Given the description of an element on the screen output the (x, y) to click on. 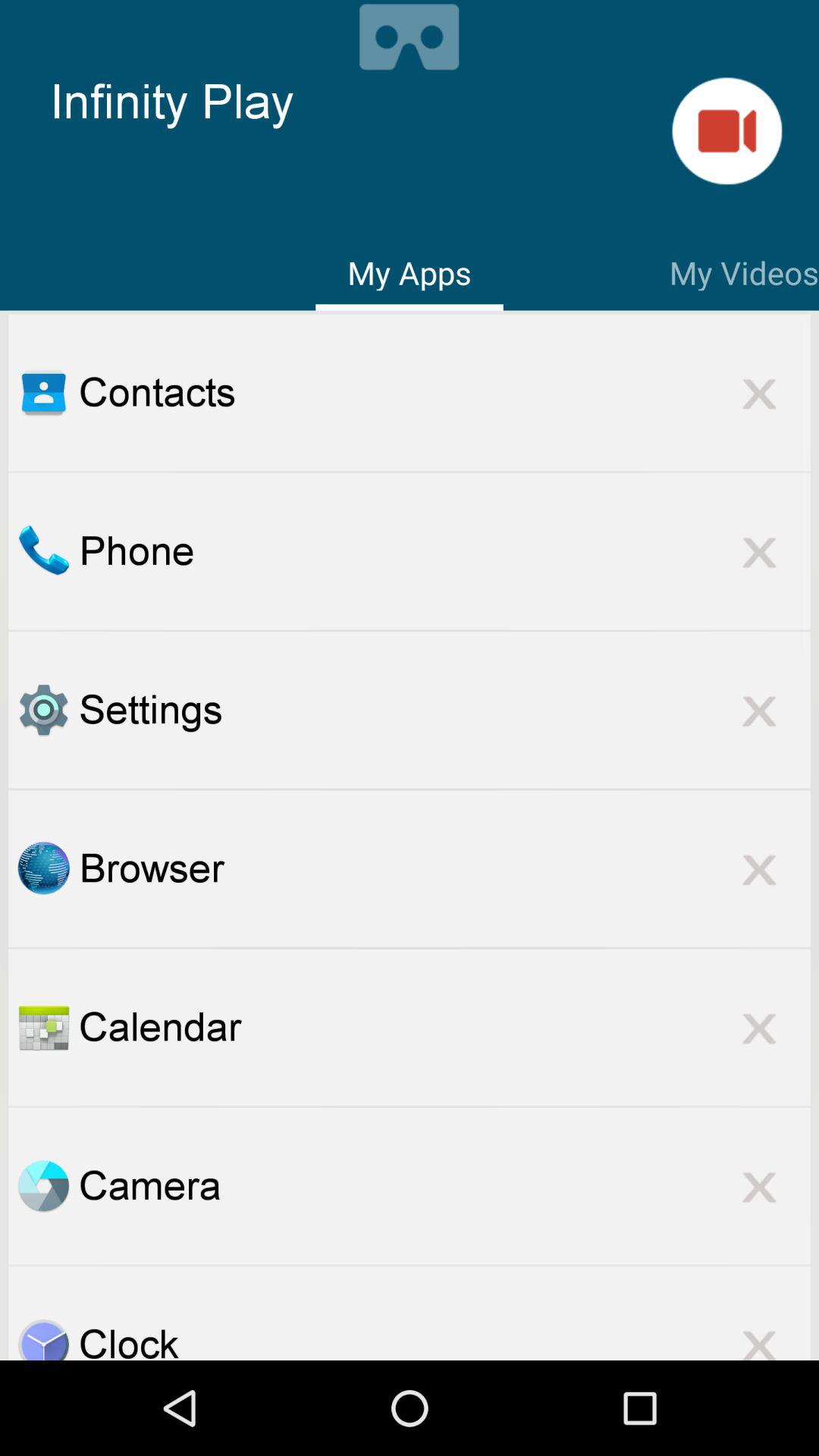
click calendar icon (444, 1026)
